Given the description of an element on the screen output the (x, y) to click on. 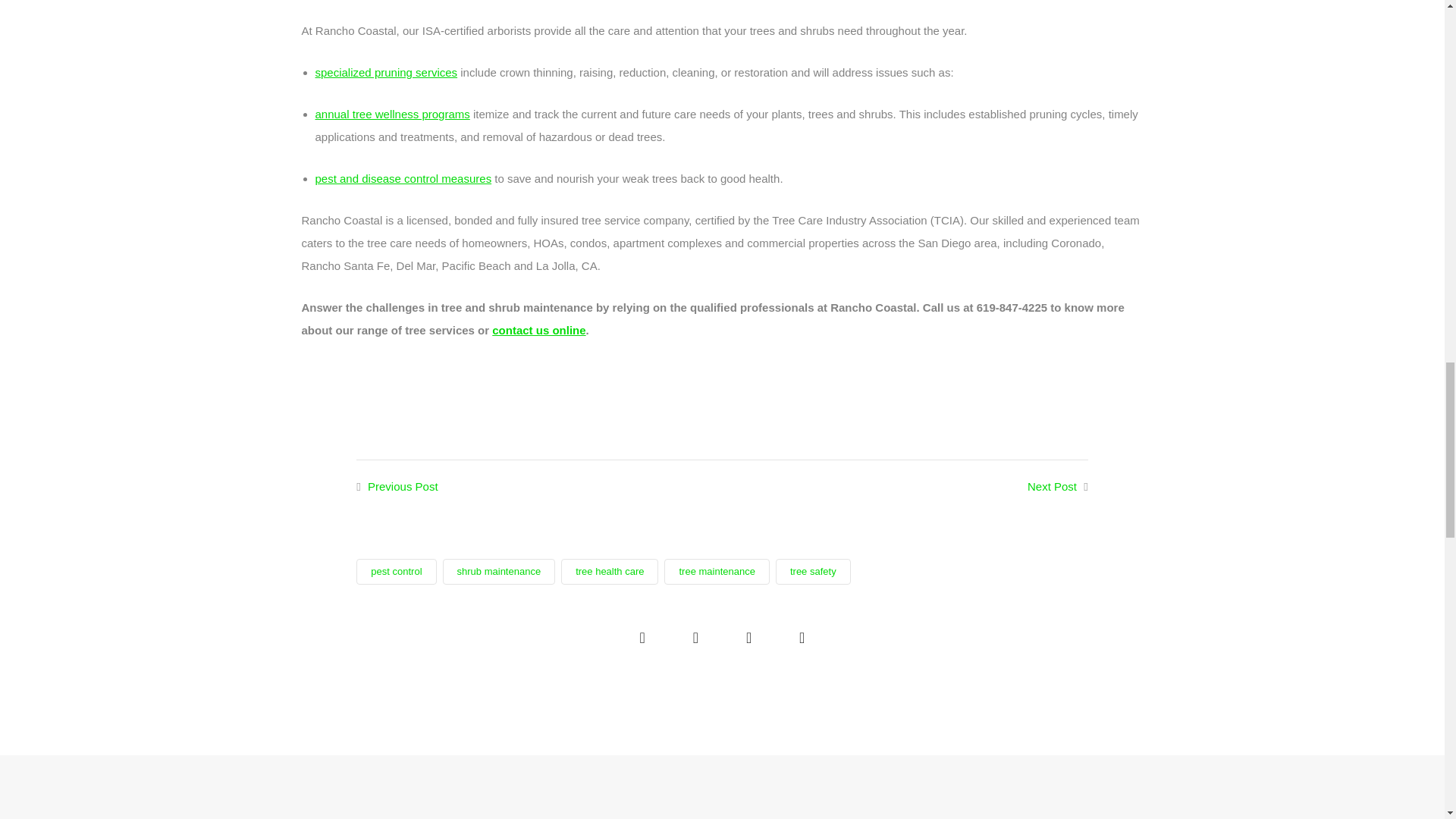
annual tree wellness programs (392, 113)
specialized pruning services (386, 72)
contact us online (538, 329)
Previous Post (403, 486)
pest control (395, 571)
tree health care (609, 571)
shrub maintenance (499, 571)
pest and disease control measures (403, 178)
Next Post (1052, 486)
